Given the description of an element on the screen output the (x, y) to click on. 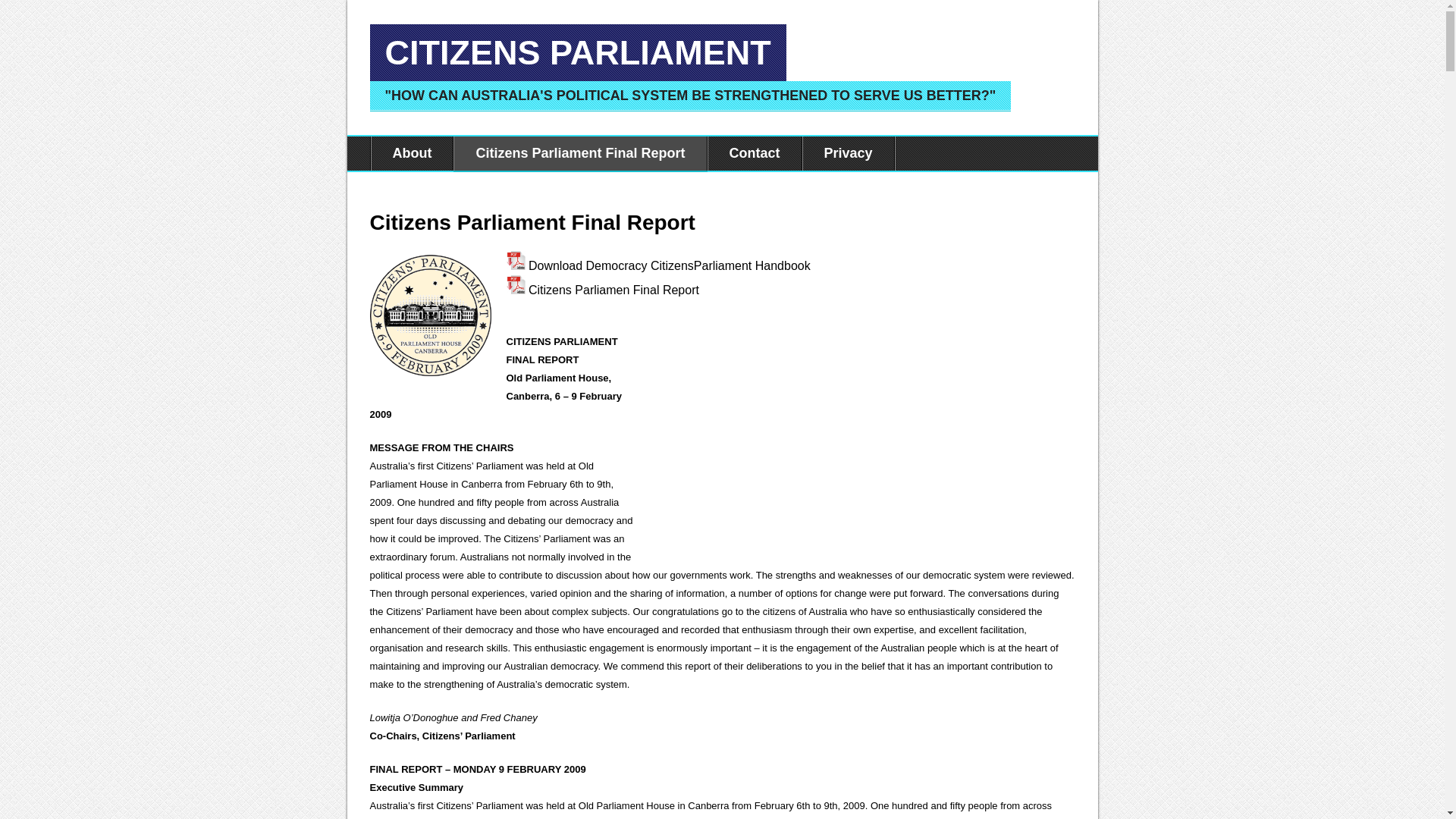
About Element type: text (411, 153)
Citizens Parliament Final Report Element type: text (579, 153)
Contact Element type: text (754, 153)
Citizens Parliamen Final Report Element type: text (613, 289)
Privacy Element type: text (848, 153)
Download Democracy CitizensParliament Handbook Element type: text (669, 265)
CITIZENS PARLIAMENT Element type: text (578, 52)
